Given the description of an element on the screen output the (x, y) to click on. 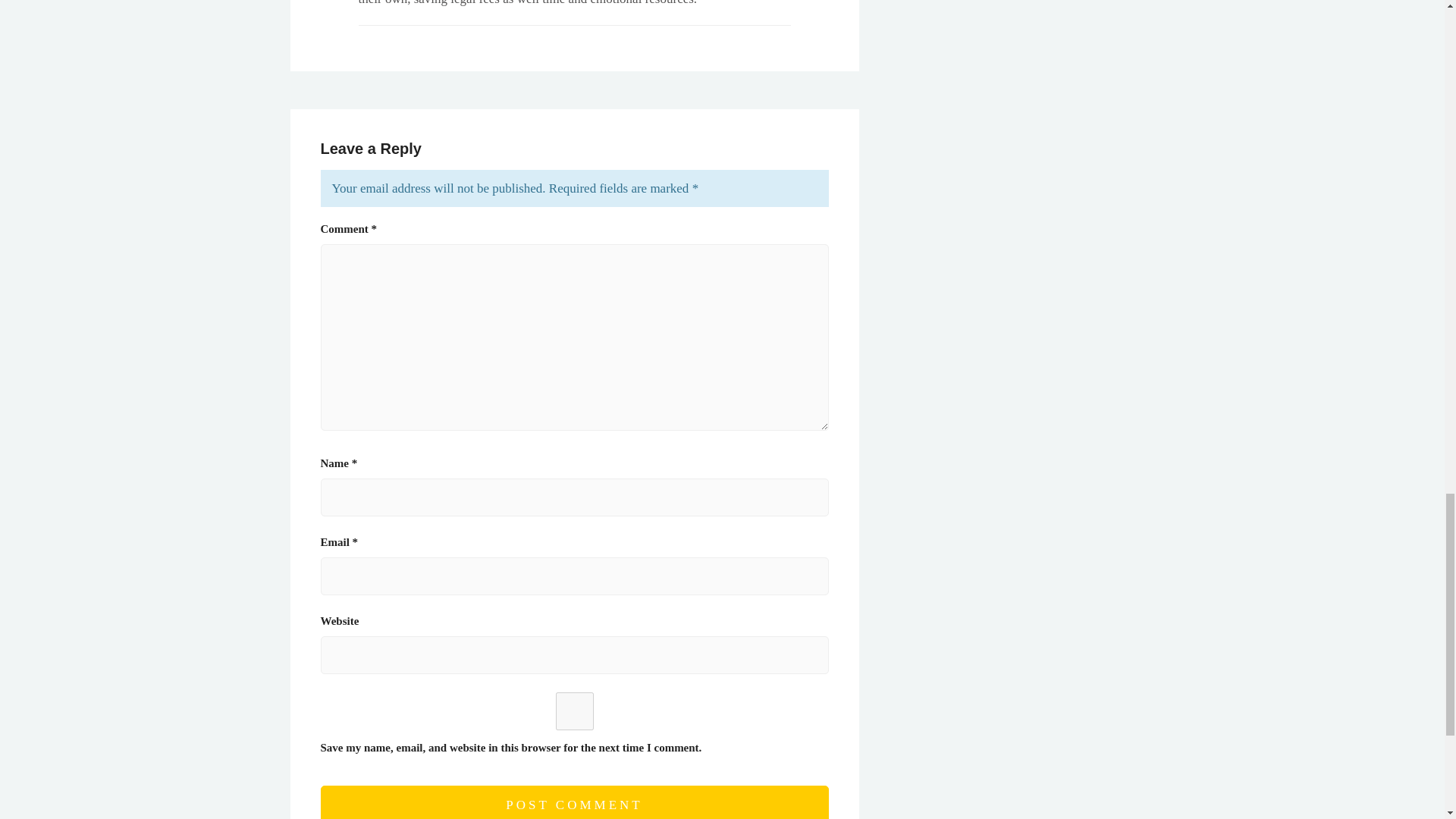
yes (574, 711)
Post Comment (574, 802)
Post Comment (574, 802)
